Given the description of an element on the screen output the (x, y) to click on. 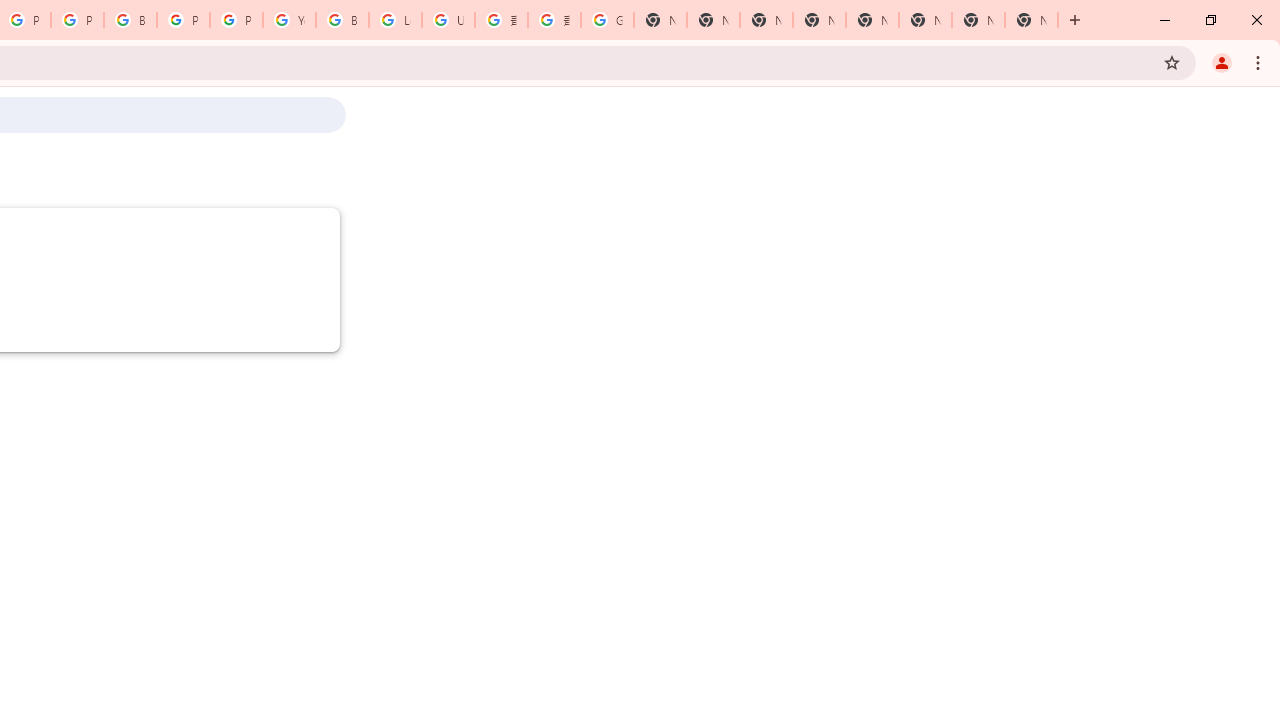
YouTube (289, 20)
New Tab (1031, 20)
Browse Chrome as a guest - Computer - Google Chrome Help (342, 20)
Google Images (607, 20)
